Given the description of an element on the screen output the (x, y) to click on. 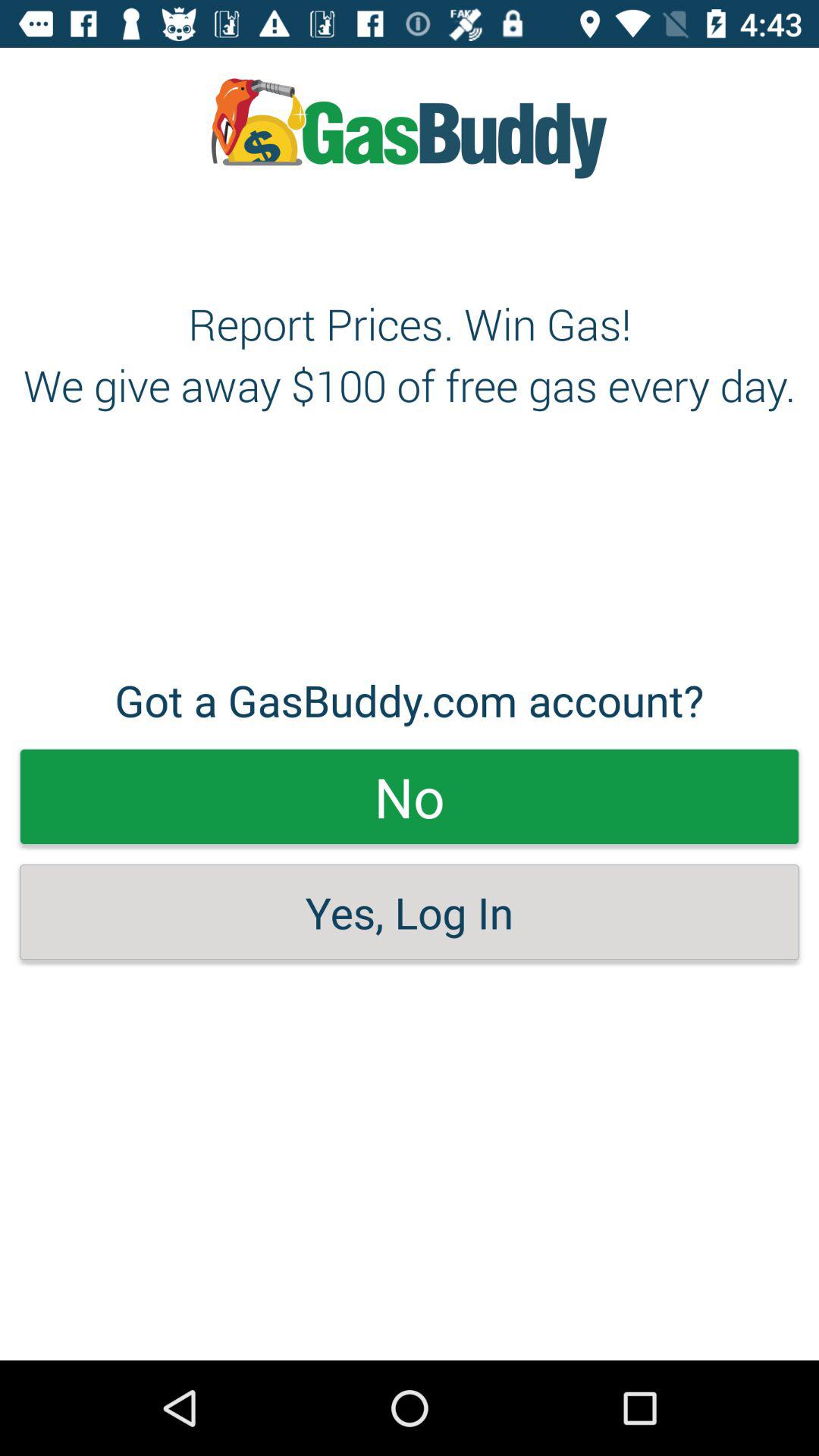
flip to the yes, log in item (409, 912)
